Given the description of an element on the screen output the (x, y) to click on. 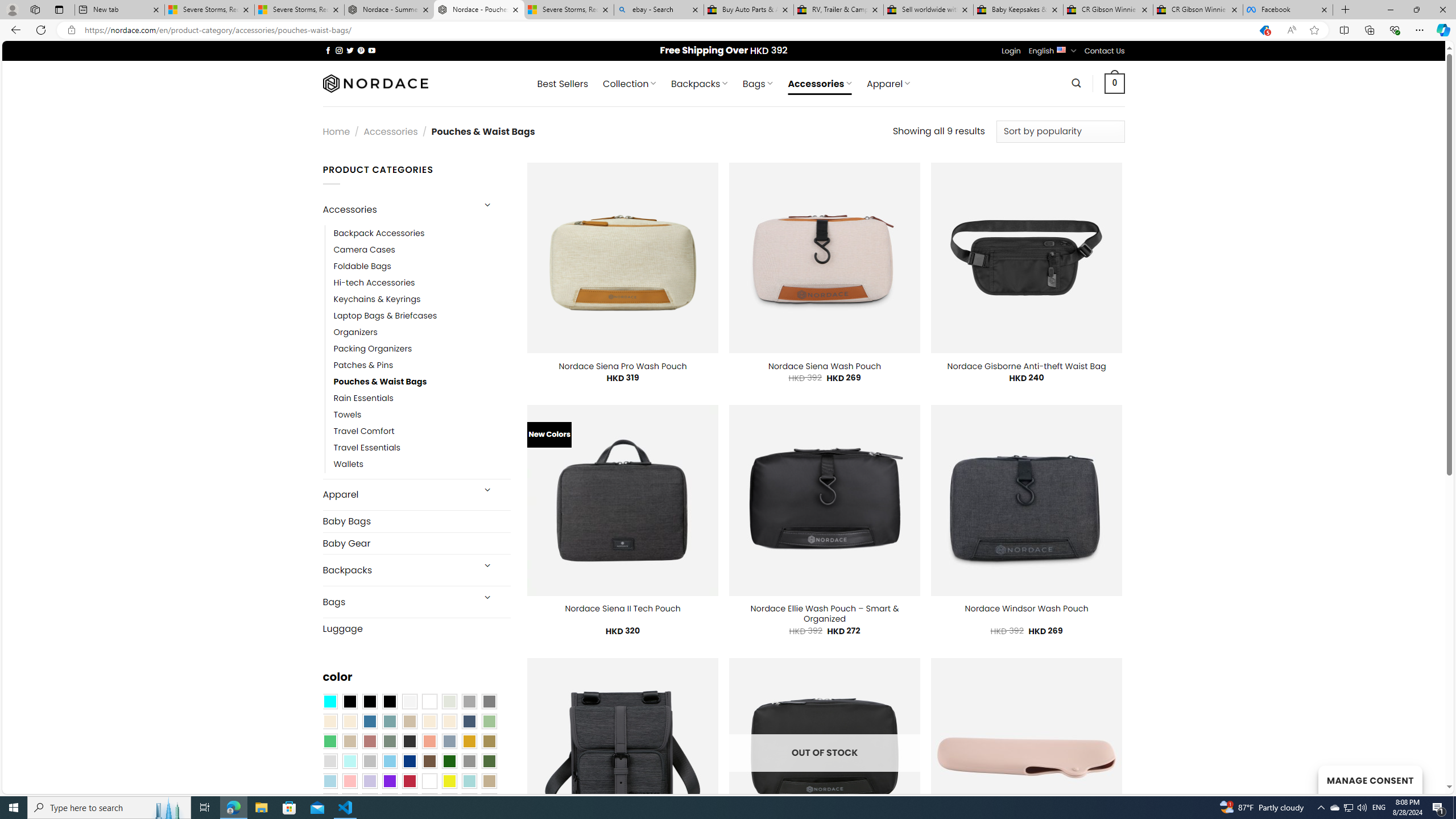
ebay - Search (658, 9)
Dark Green (449, 761)
Rain Essentials (422, 398)
Light Blue (329, 780)
Pouches & Waist Bags (422, 381)
This site has coupons! Shopping in Microsoft Edge, 5 (1263, 29)
Organizers (422, 332)
Apparel (397, 494)
All Black (349, 701)
Black (369, 701)
